Given the description of an element on the screen output the (x, y) to click on. 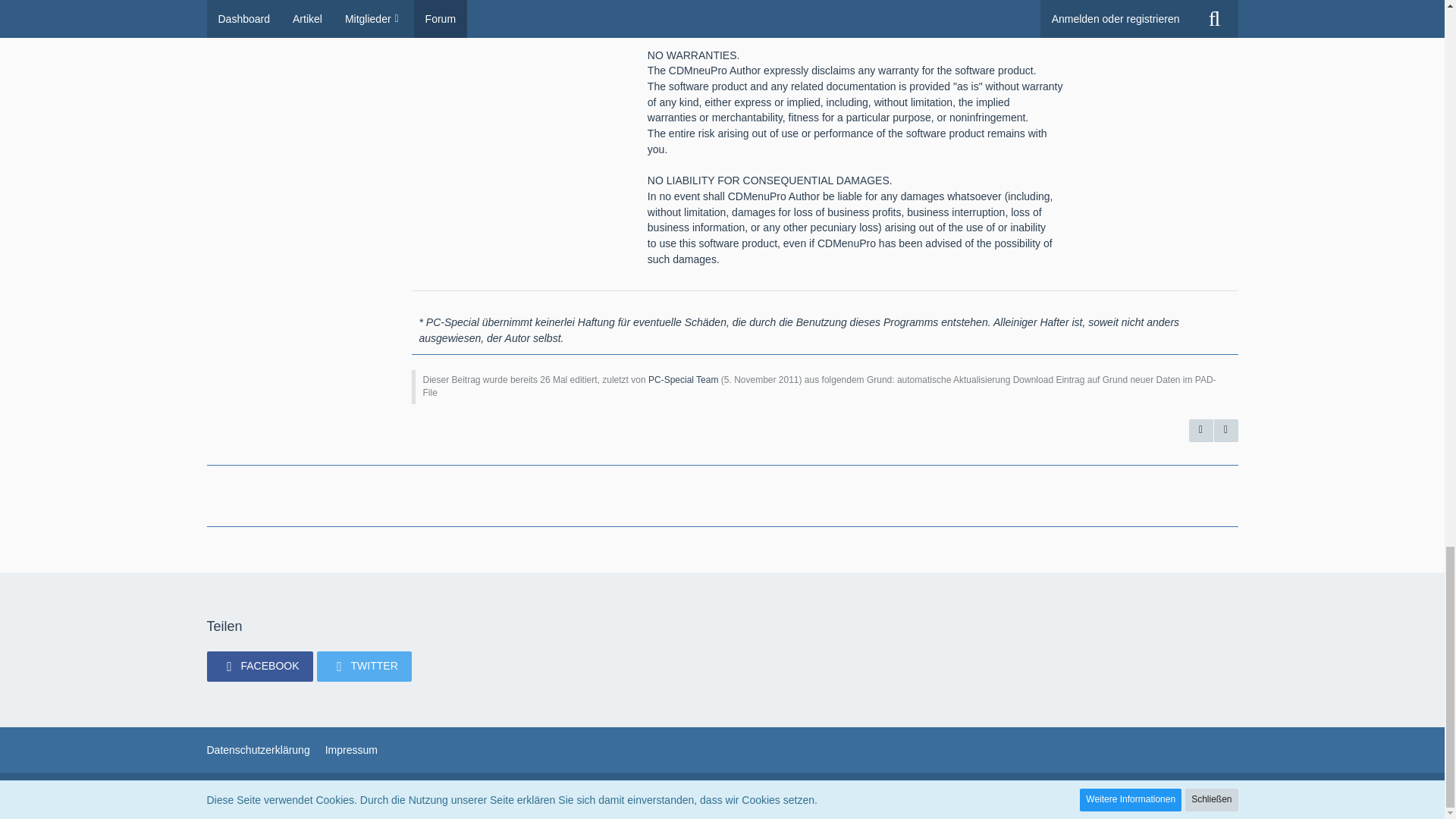
PC-Special Team (682, 378)
TWITTER (364, 666)
Facebook (259, 666)
Twitter (364, 666)
5. November 2011, 04:28 (761, 378)
FACEBOOK (259, 666)
